Given the description of an element on the screen output the (x, y) to click on. 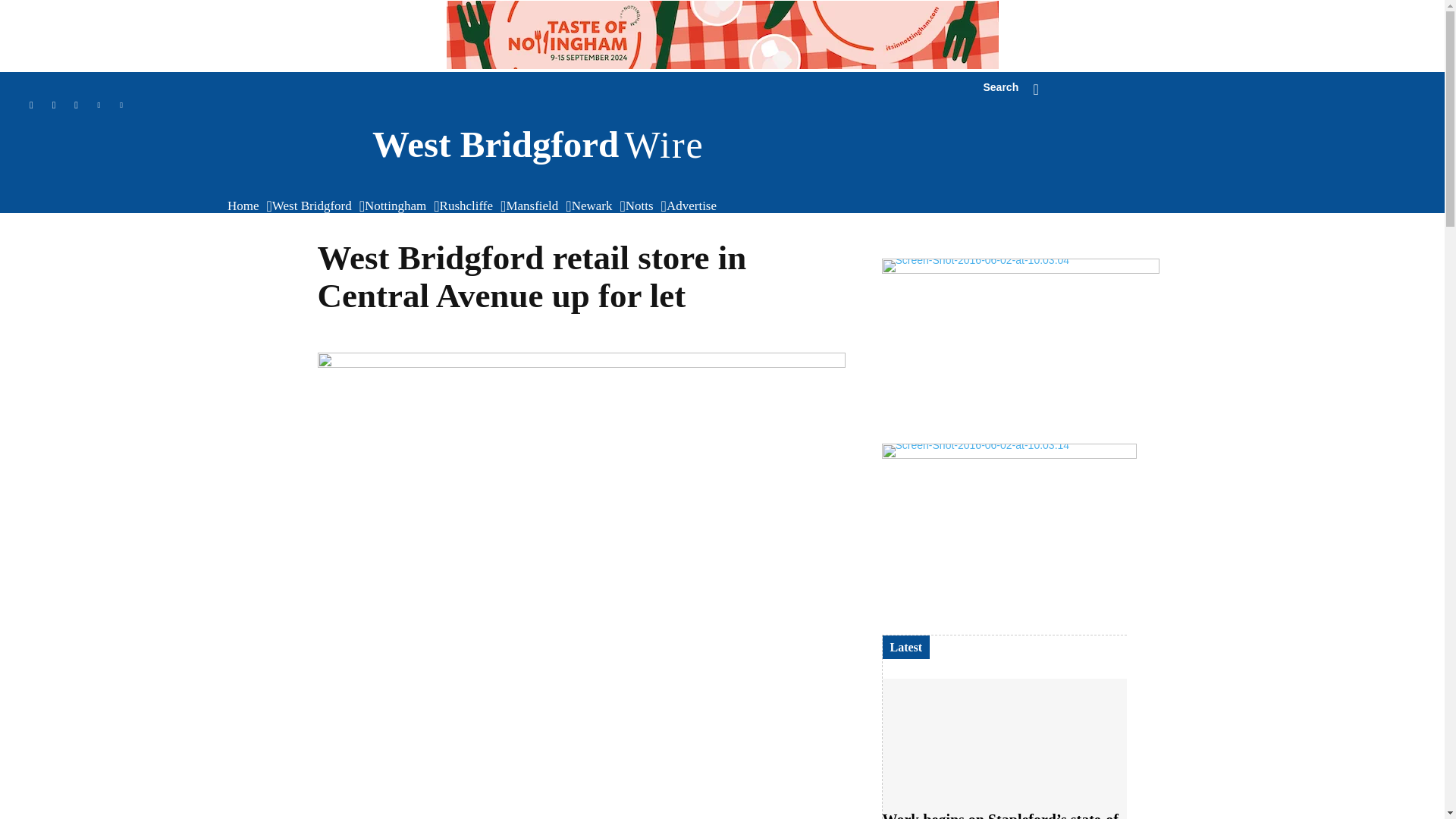
Screen-Shot-2016-06-02-at-10.03.04 (1019, 350)
Mansfield (535, 206)
Advertise (694, 206)
West Bridgford (315, 206)
Home (246, 206)
Linkedin (97, 105)
Nottingham (399, 206)
Screen-Shot-2016-06-02-at-10.03.14 (1007, 534)
Tiktok (30, 105)
Notts (643, 206)
